Given the description of an element on the screen output the (x, y) to click on. 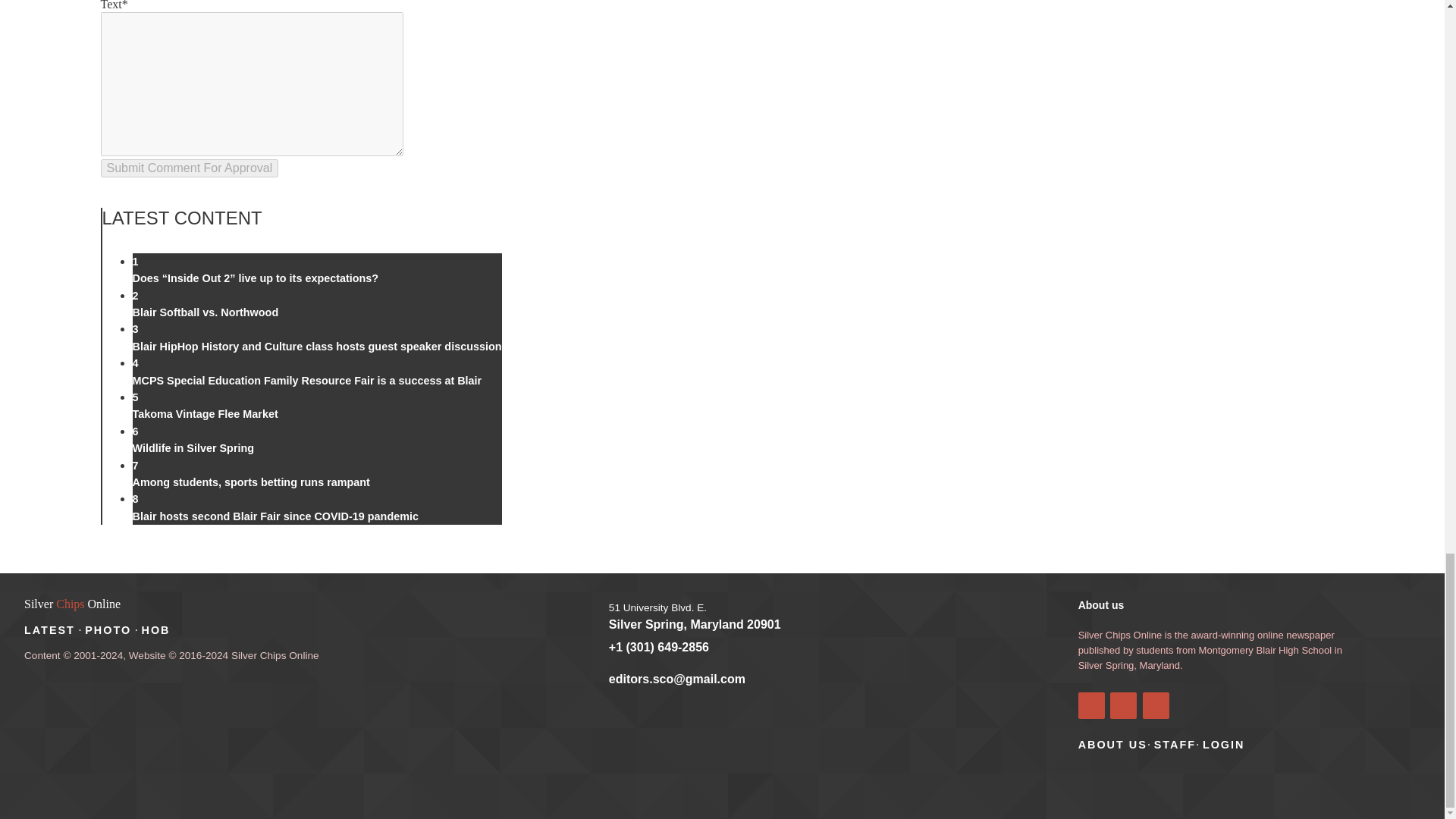
PHOTO (107, 630)
Blair hosts second Blair Fair since COVID-19 pandemic (274, 516)
Submit Comment For Approval (189, 167)
Blair Softball vs. Northwood (205, 312)
Among students, sports betting runs rampant (250, 481)
Takoma Vintage Flee Market (205, 413)
Wildlife in Silver Spring (192, 448)
LATEST (49, 630)
HOB (155, 630)
